Given the description of an element on the screen output the (x, y) to click on. 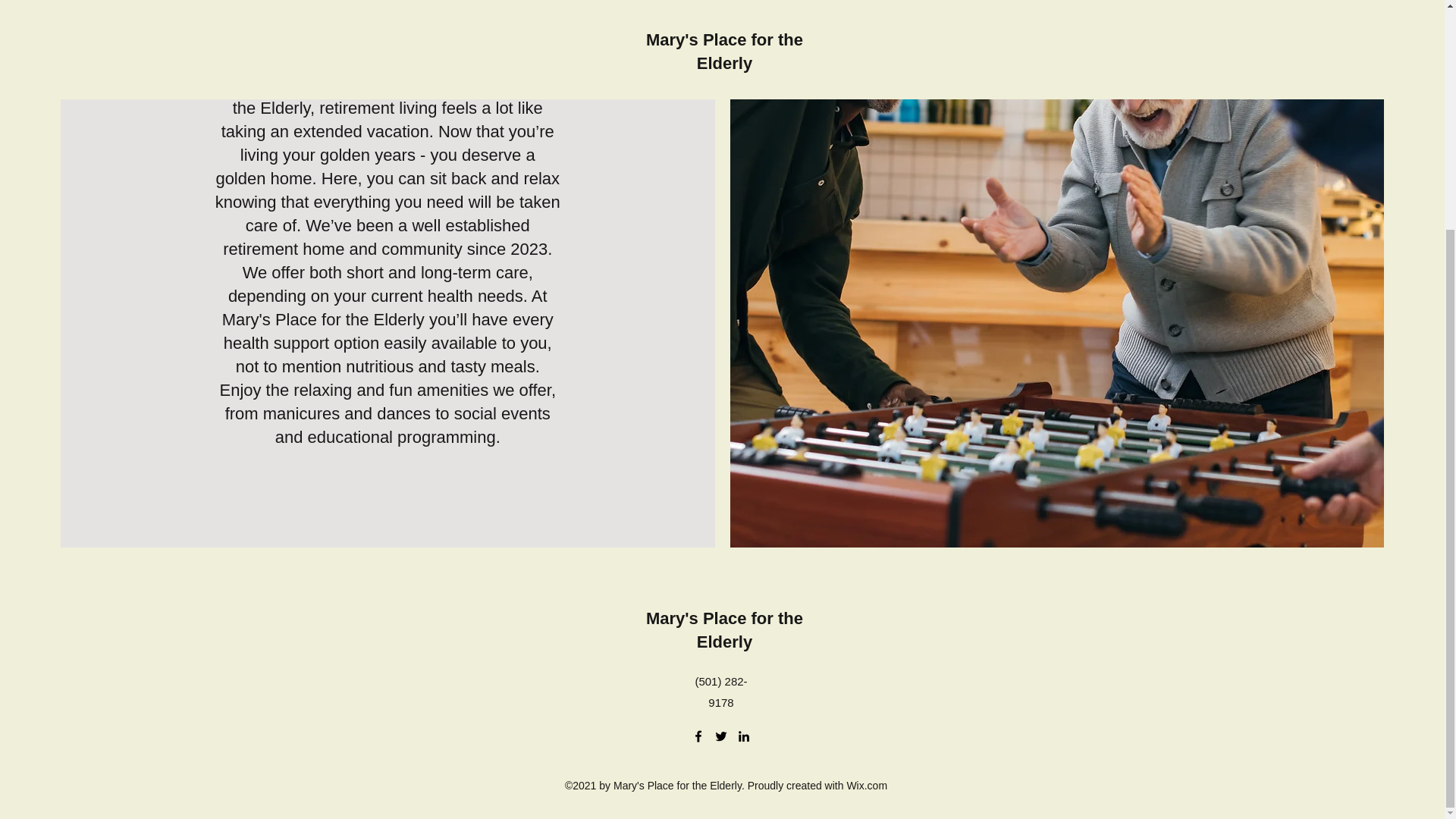
Mary's Place for the Elderly (724, 630)
